Given the description of an element on the screen output the (x, y) to click on. 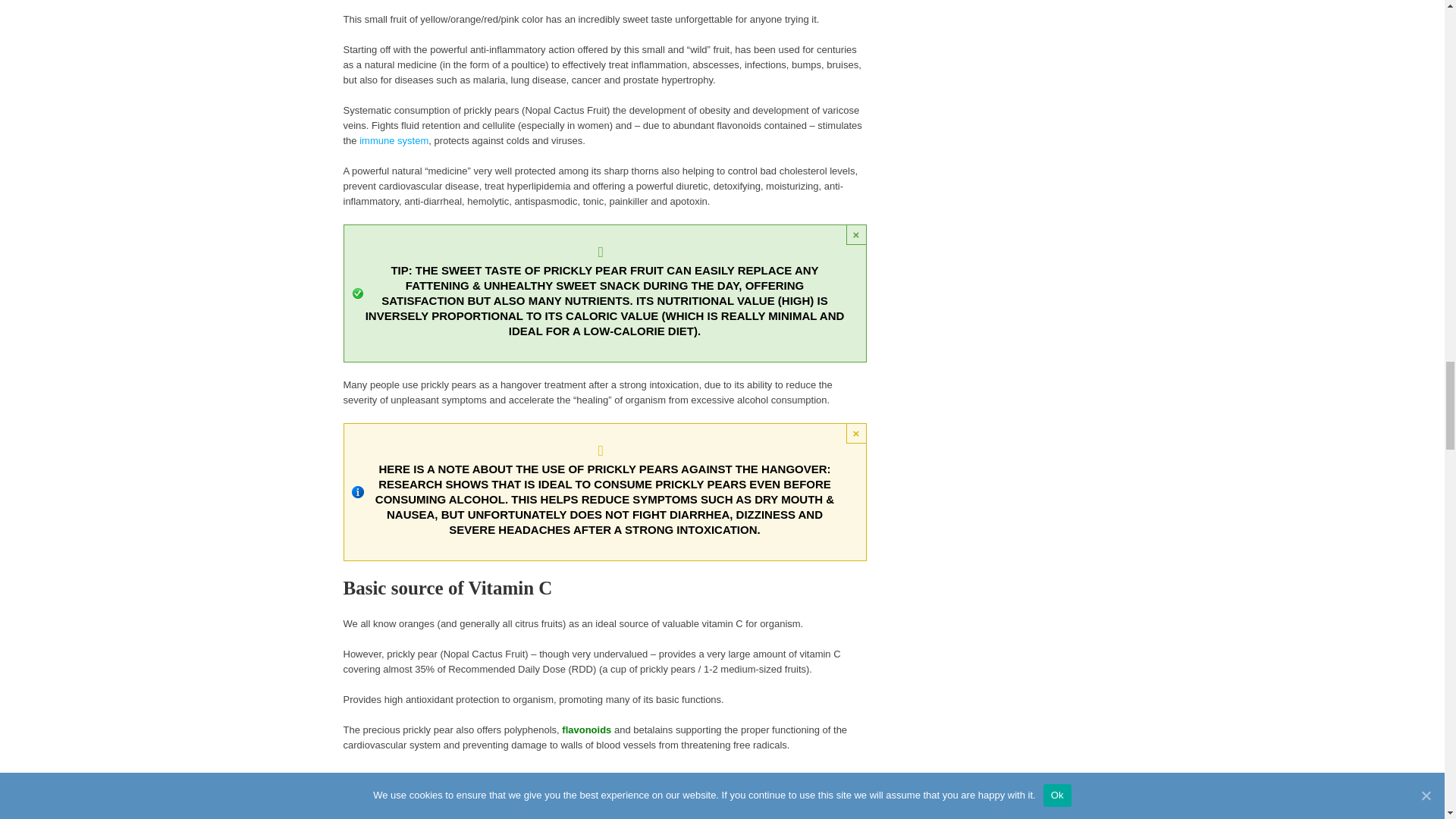
immune system (393, 140)
flavonoids (586, 729)
immune system (393, 140)
